Given the description of an element on the screen output the (x, y) to click on. 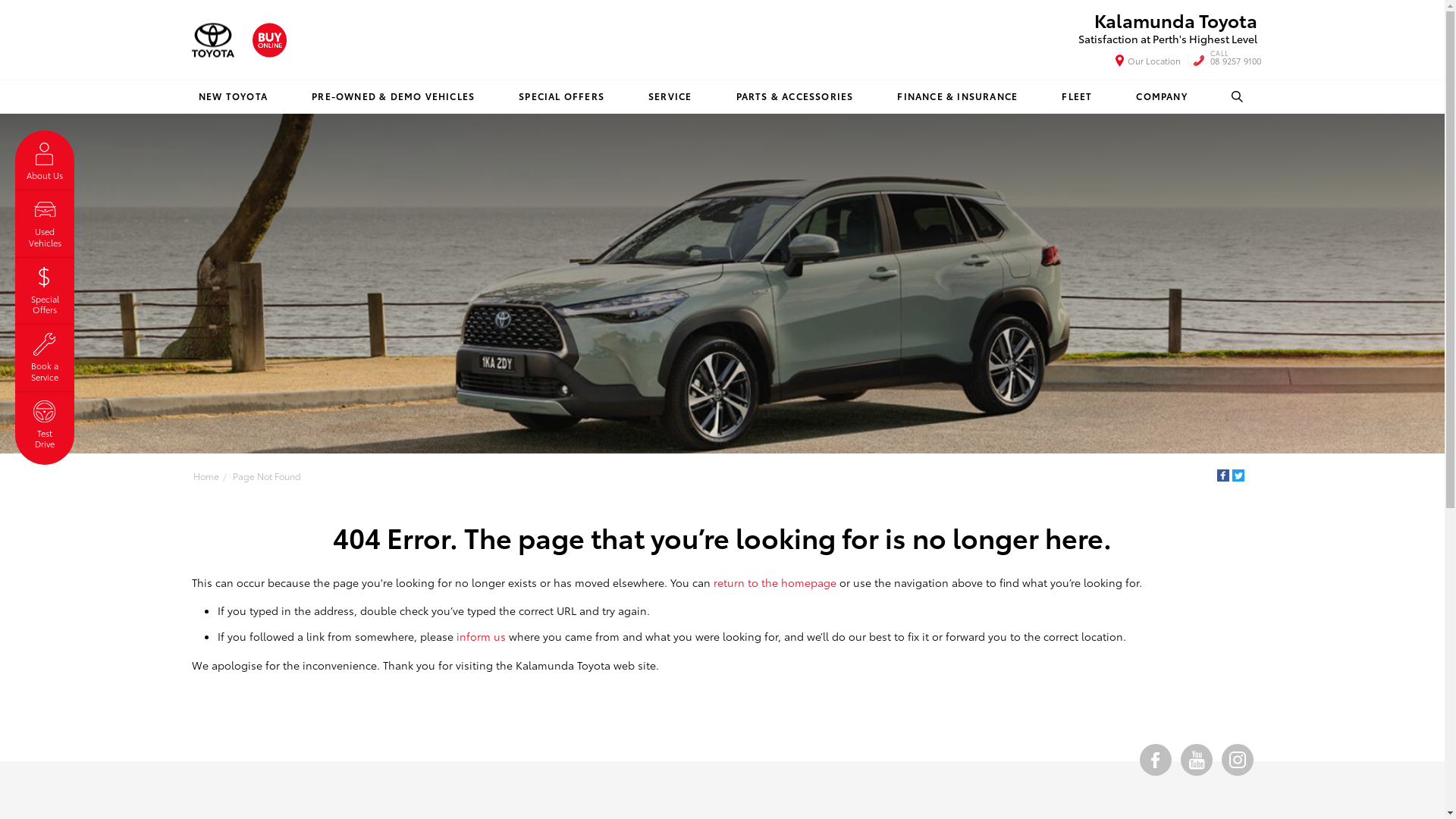
CALL
08 9257 9100 Element type: text (1235, 60)
return to the homepage Element type: text (773, 581)
Test Drive Element type: text (44, 422)
Book a Service Element type: text (44, 355)
Follow Us on Instagram Element type: hover (1236, 759)
Our Location Element type: text (1147, 60)
FLEET Element type: text (1076, 96)
inform us Element type: text (480, 635)
Facebook Element type: hover (1222, 475)
Twitter Element type: hover (1237, 475)
Home Element type: text (205, 475)
PRE-OWNED & DEMO VEHICLES Element type: text (392, 96)
About Us Element type: text (44, 159)
Used Vehicles Element type: text (44, 220)
Become a Friend on Facebook Element type: hover (1154, 759)
SEARCH Element type: text (1237, 96)
Kalamunda Toyota Element type: hover (212, 39)
Buy Online Element type: hover (268, 39)
SERVICE Element type: text (669, 96)
COMPANY Element type: text (1160, 96)
PARTS & ACCESSORIES Element type: text (794, 96)
SPECIAL OFFERS Element type: text (561, 96)
FINANCE & INSURANCE Element type: text (957, 96)
Special Offers Element type: text (44, 288)
Kalamunda Toyota
Satisfaction at Perth's Highest Level Element type: text (1167, 28)
Visit our YouTube Channel Element type: hover (1195, 759)
NEW TOYOTA Element type: text (232, 96)
